Given the description of an element on the screen output the (x, y) to click on. 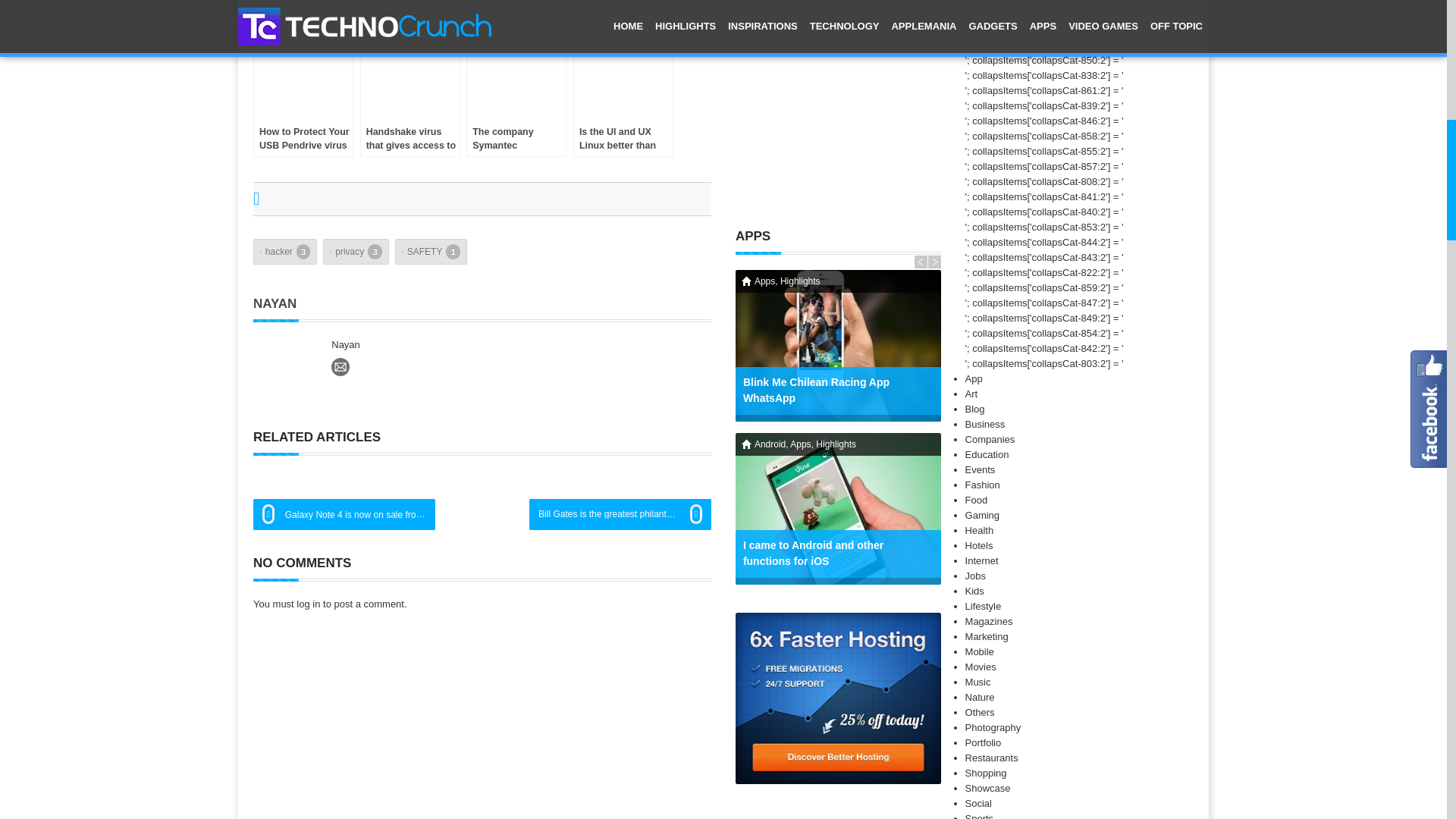
Galaxy Note 4 is now on sale from this week (344, 513)
SAFETY1 (430, 251)
Bill Gates is the greatest philanthropist in history (620, 513)
privacy3 (355, 251)
hacker3 (285, 251)
NAYAN (275, 303)
